Given the description of an element on the screen output the (x, y) to click on. 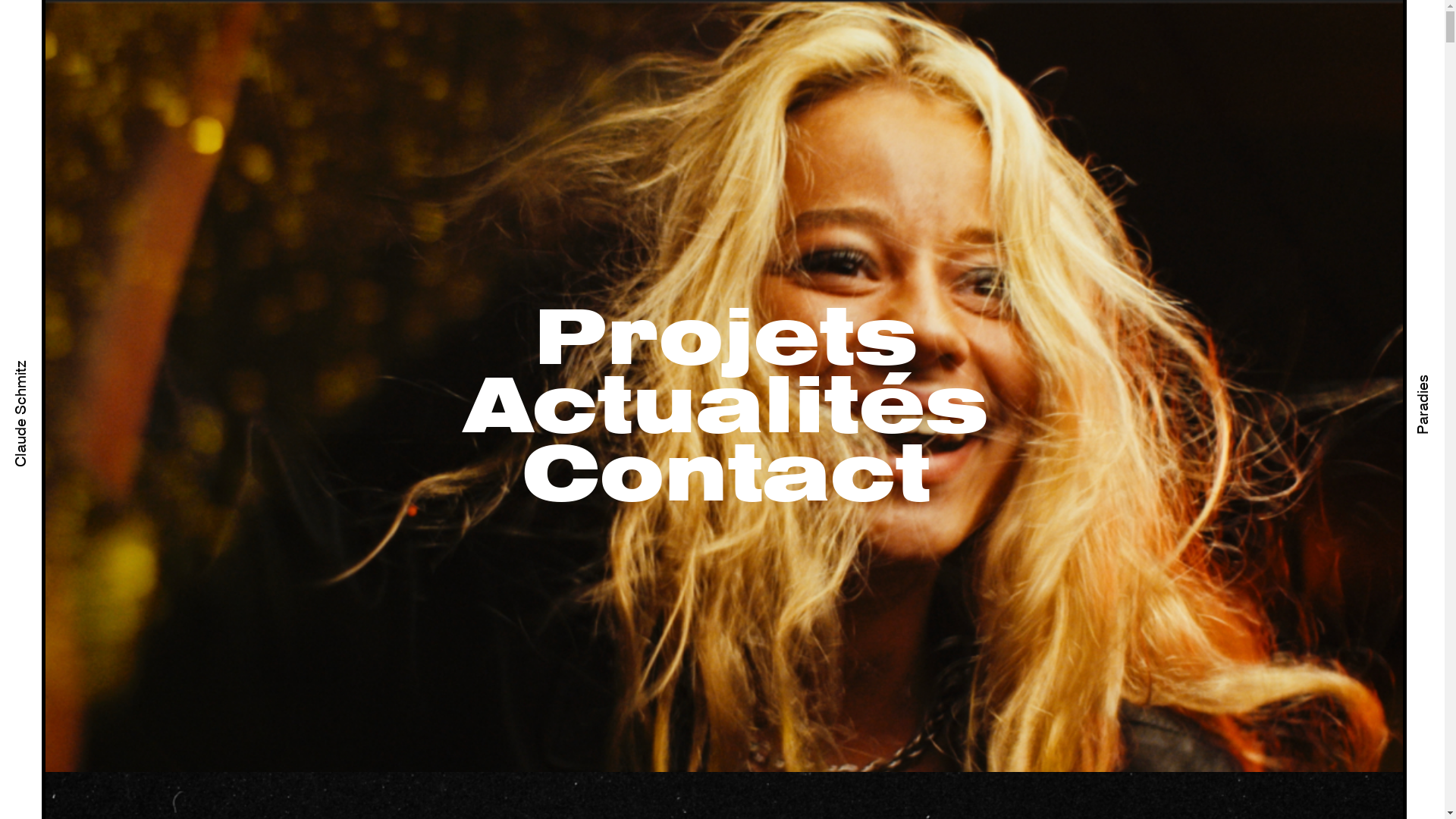
Projets Element type: text (725, 341)
Contact Element type: text (725, 477)
Claude Schmitz Element type: text (67, 367)
